Given the description of an element on the screen output the (x, y) to click on. 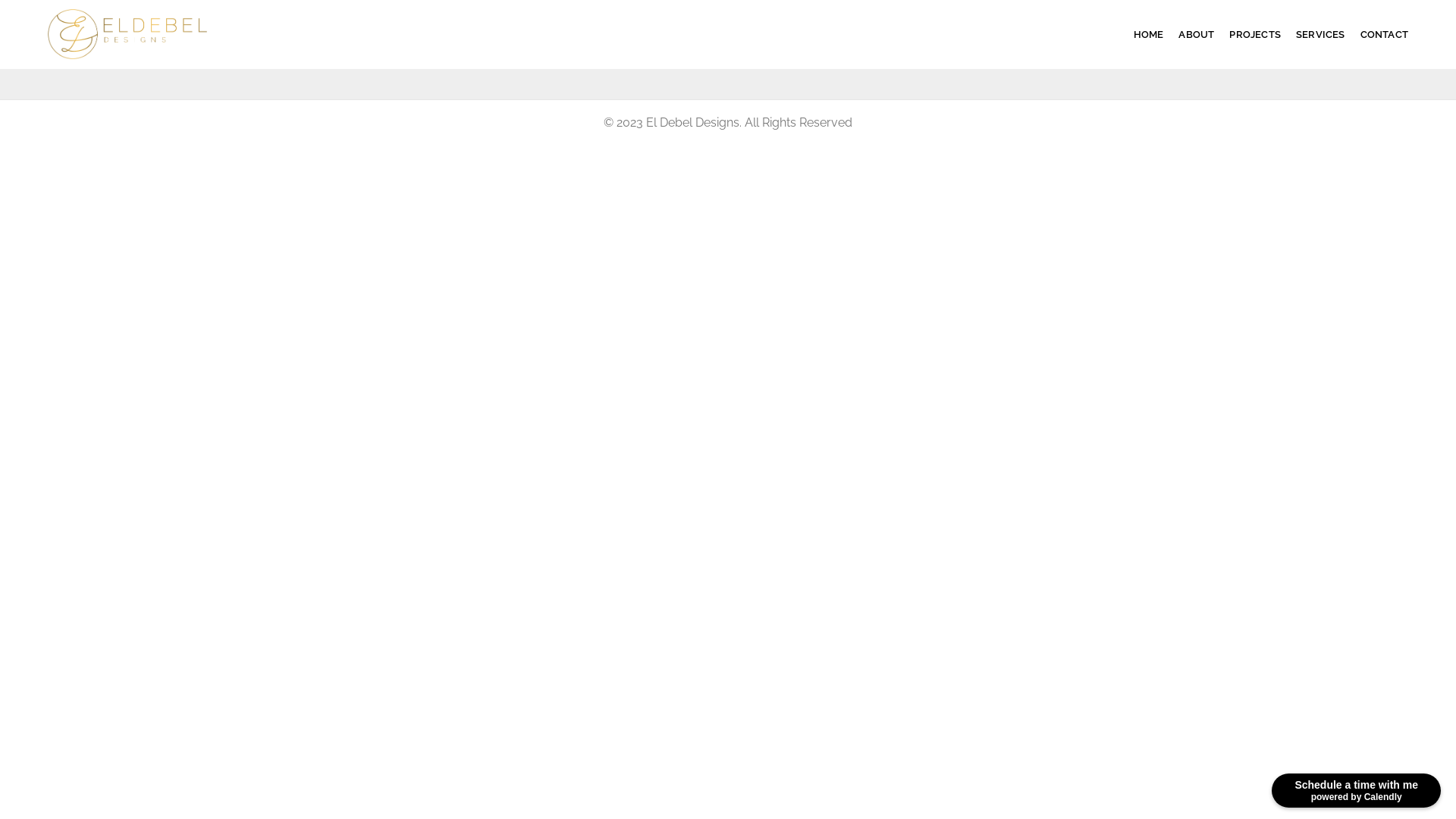
PROJECTS Element type: text (1254, 33)
ABOUT Element type: text (1195, 33)
SERVICES Element type: text (1320, 33)
HOME Element type: text (1148, 33)
CONTACT Element type: text (1383, 33)
